Given the description of an element on the screen output the (x, y) to click on. 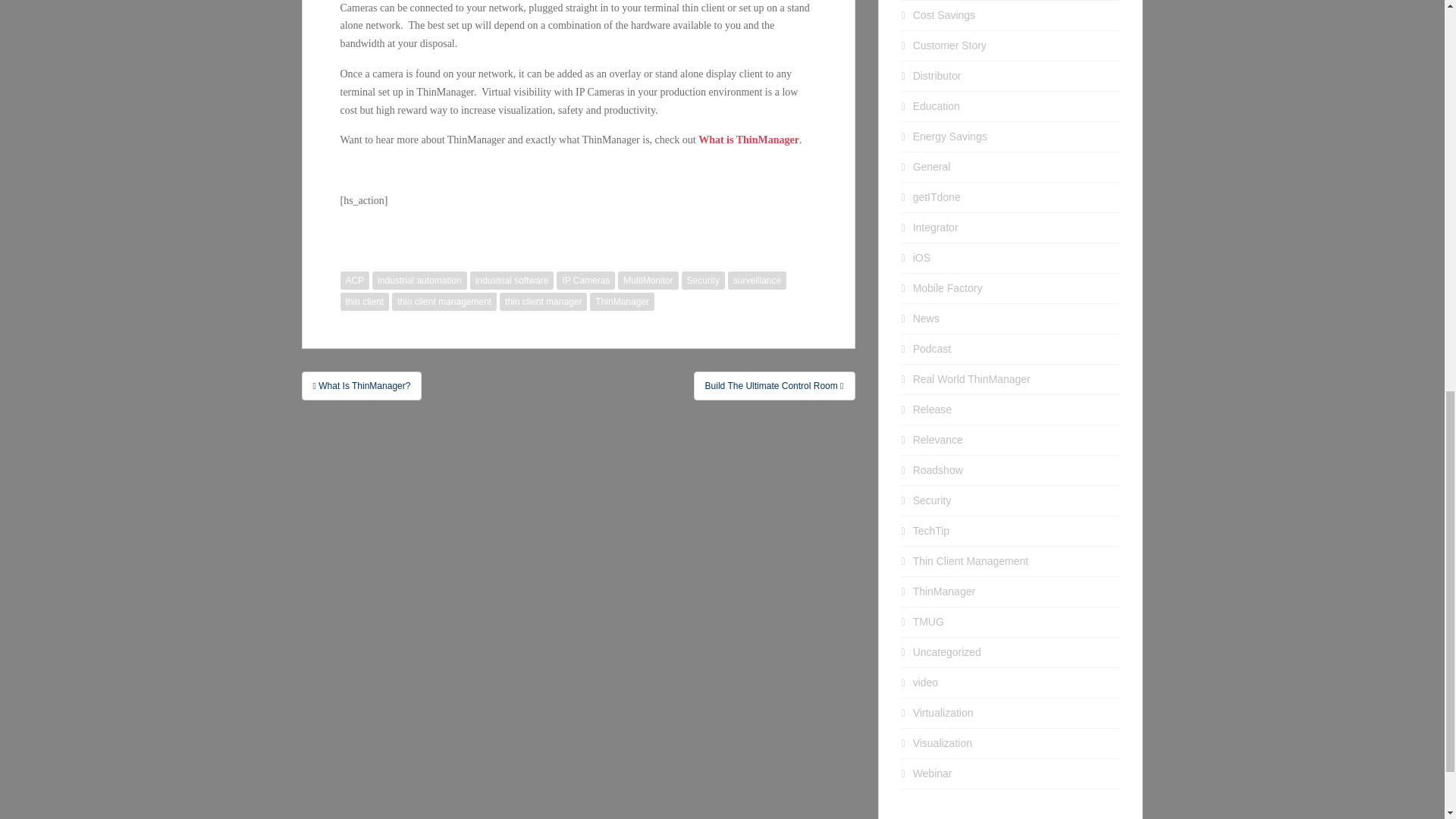
What is ThinManager (748, 139)
Build The Ultimate Control Room (775, 385)
What Is ThinManager? (361, 385)
thin client manager (542, 301)
MultiMonitor (647, 280)
industrial software (512, 280)
surveillance (757, 280)
ThinManager (621, 301)
IP Cameras (585, 280)
industrial automation (419, 280)
thin client management (443, 301)
thin client (363, 301)
Security (703, 280)
ACP (354, 280)
